Given the description of an element on the screen output the (x, y) to click on. 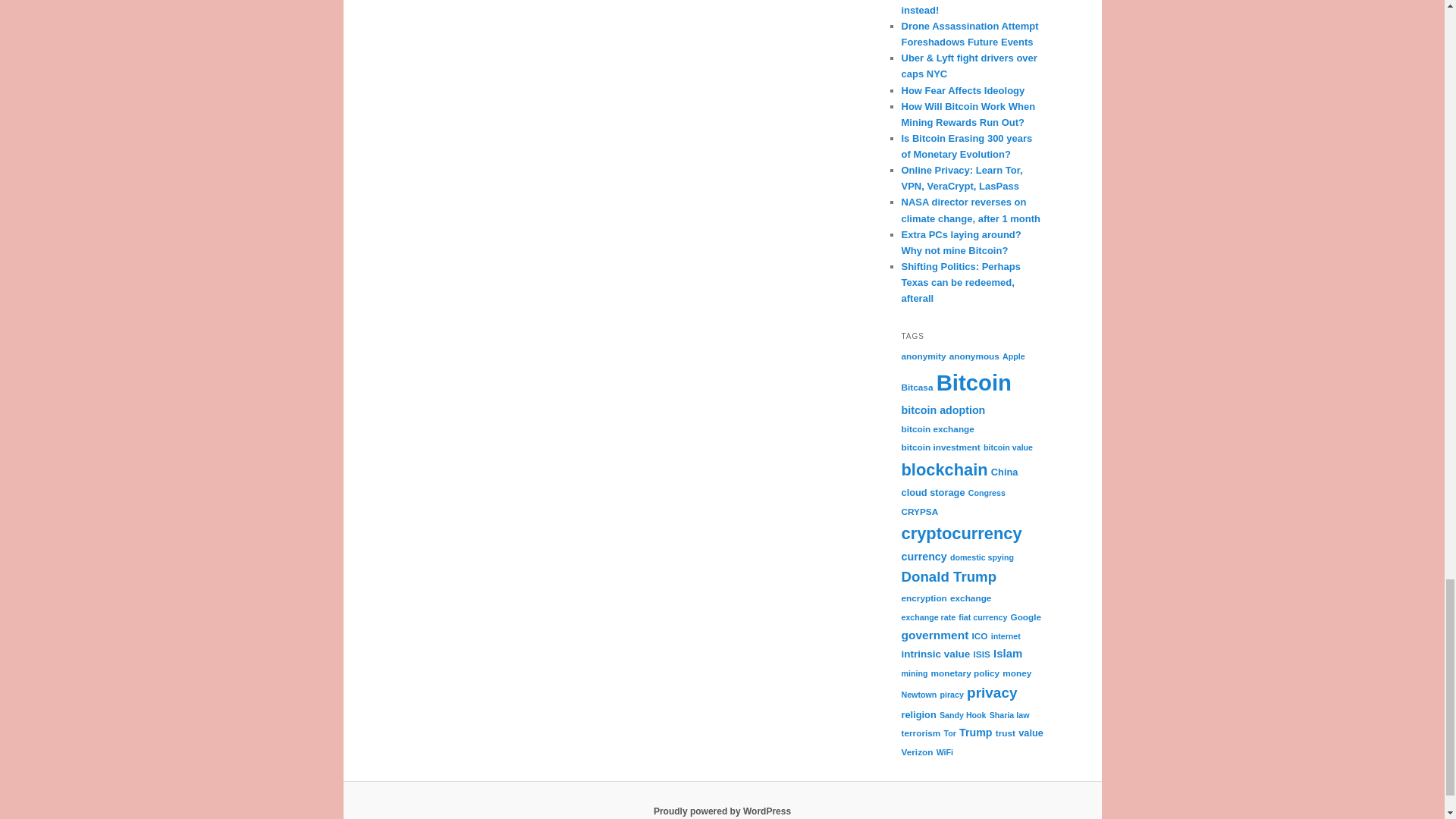
Semantic Personal Publishing Platform (721, 810)
